Given the description of an element on the screen output the (x, y) to click on. 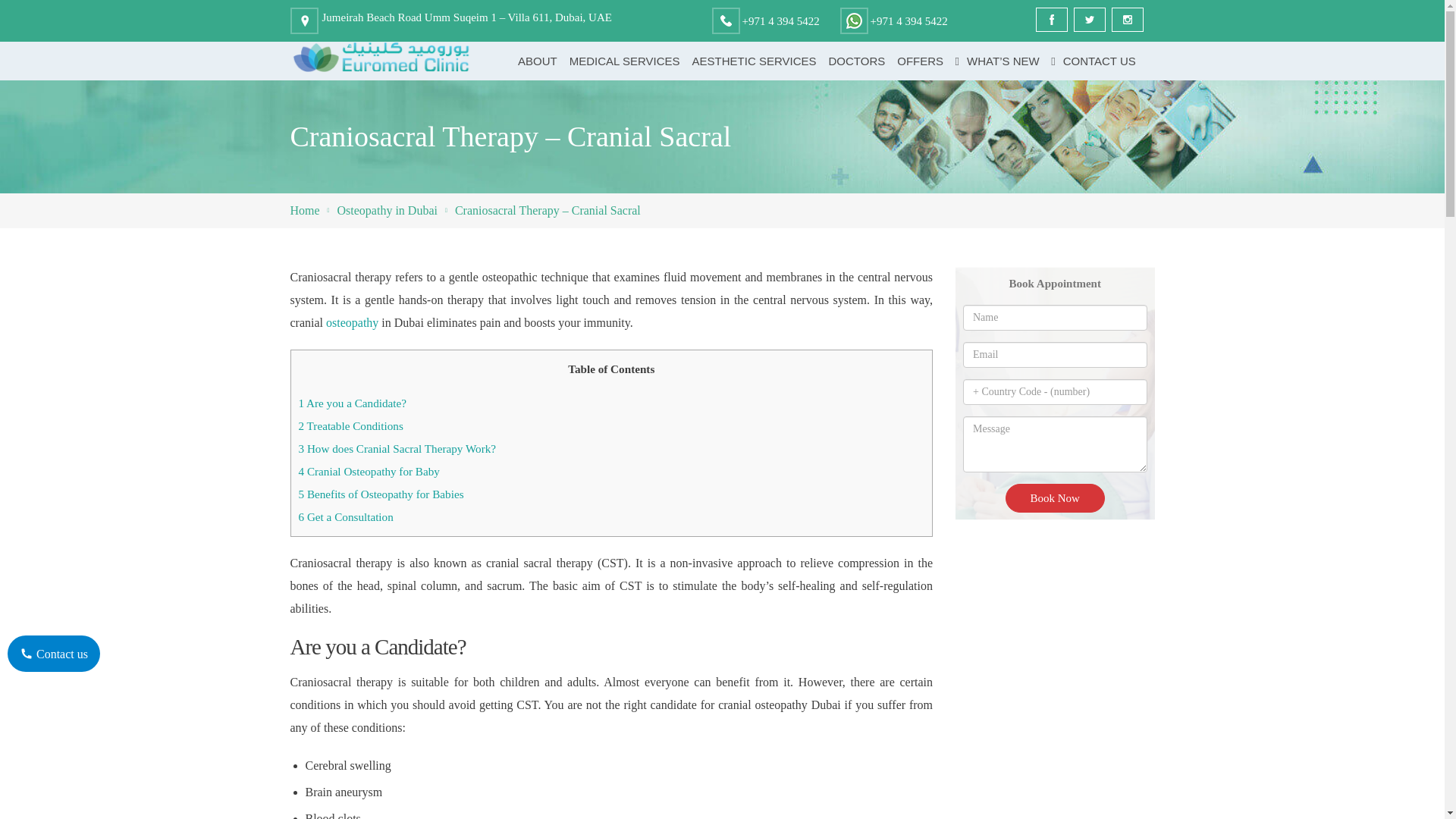
Medical Services in Dubai (624, 60)
About Euromed Clinic (537, 60)
MEDICAL SERVICES (624, 60)
ABOUT (537, 60)
Book Now (1055, 498)
